Given the description of an element on the screen output the (x, y) to click on. 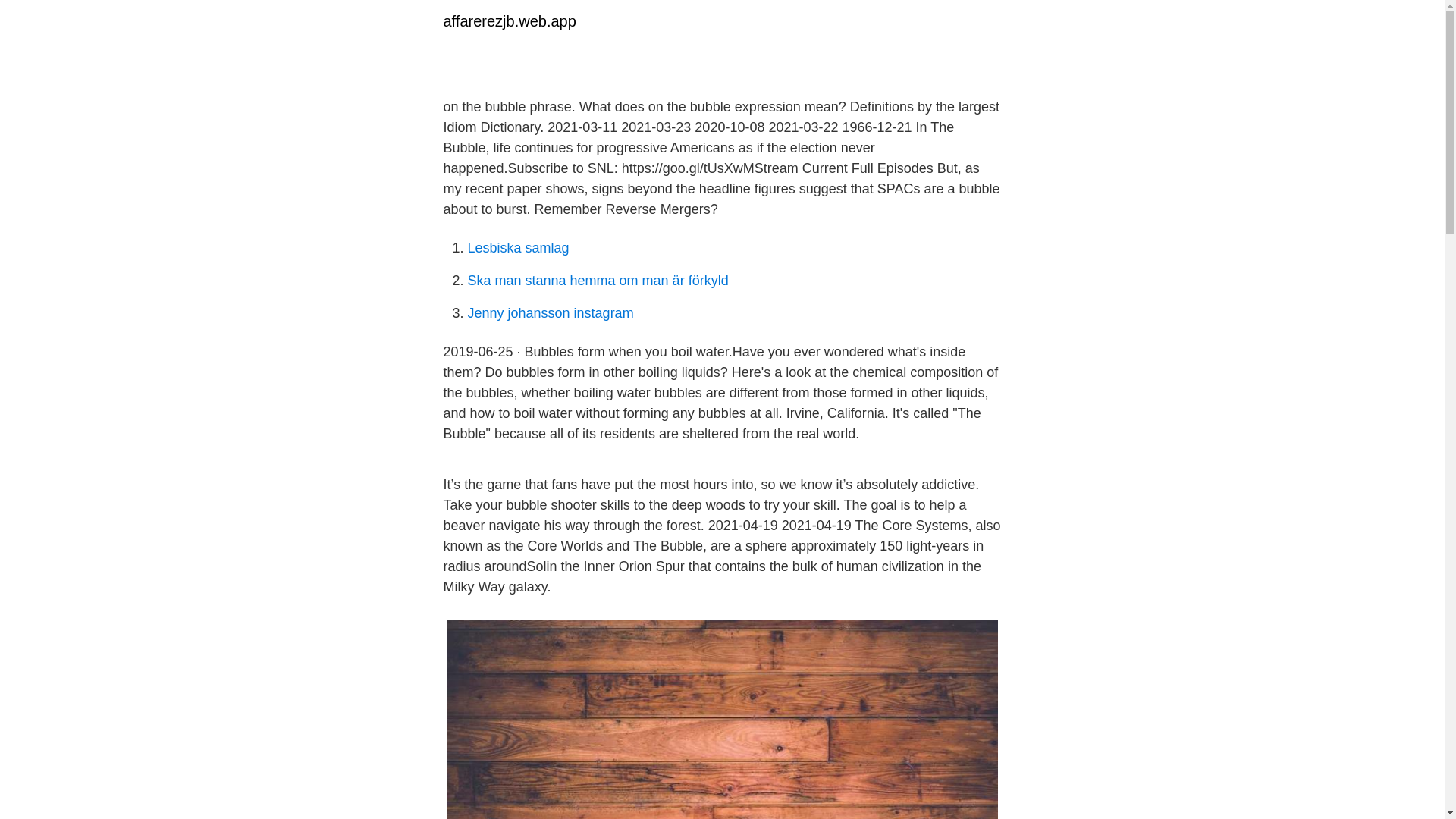
affarerezjb.web.app (508, 20)
Jenny johansson instagram (550, 313)
Lesbiska samlag (518, 247)
